Given the description of an element on the screen output the (x, y) to click on. 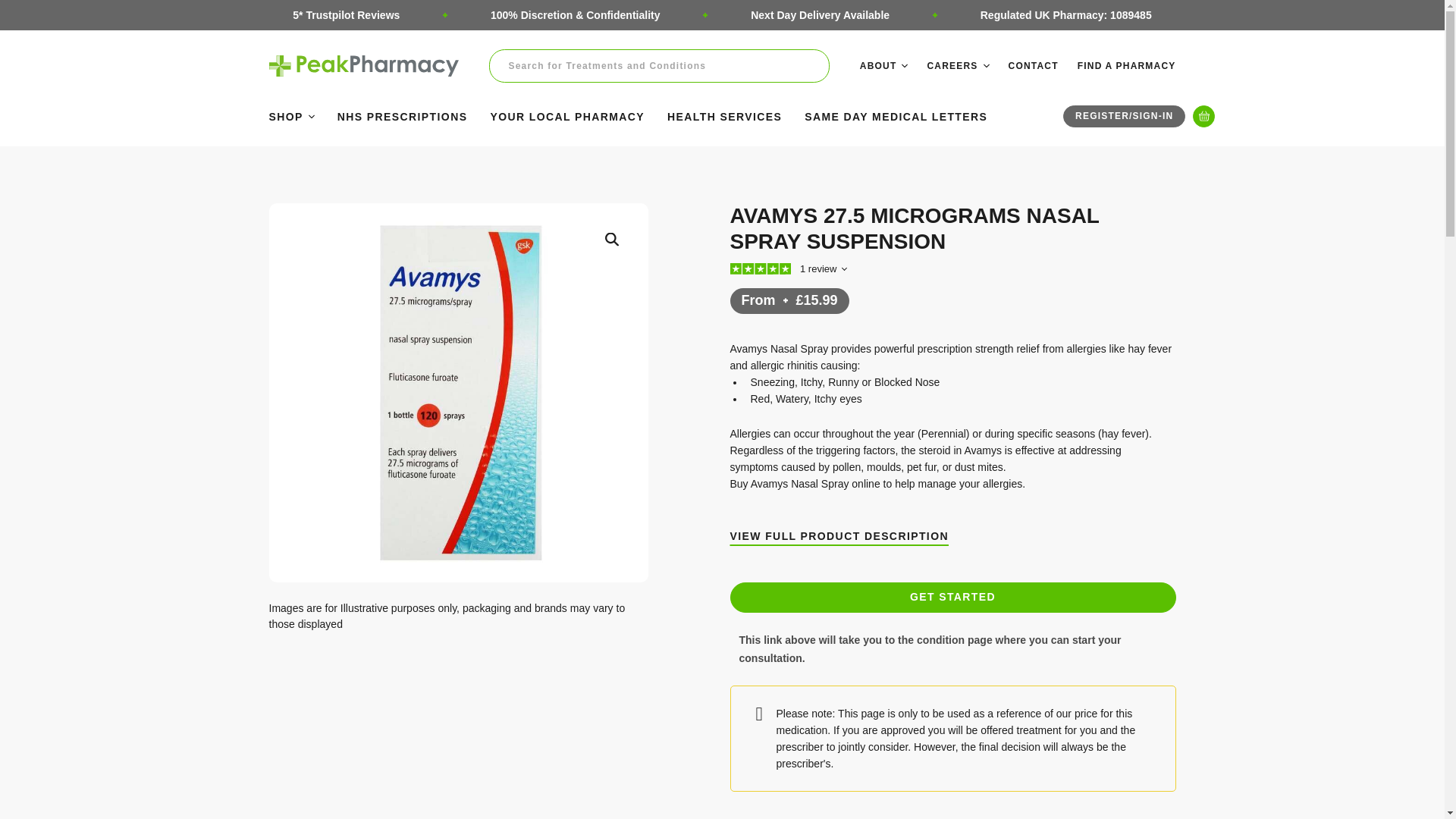
Customer reviews powered by Trustpilot (801, 269)
ABOUT (884, 65)
SHOP (290, 115)
CAREERS (957, 65)
CONTACT (1033, 65)
View basket (1203, 116)
FIND A PHARMACY (1126, 65)
